Given the description of an element on the screen output the (x, y) to click on. 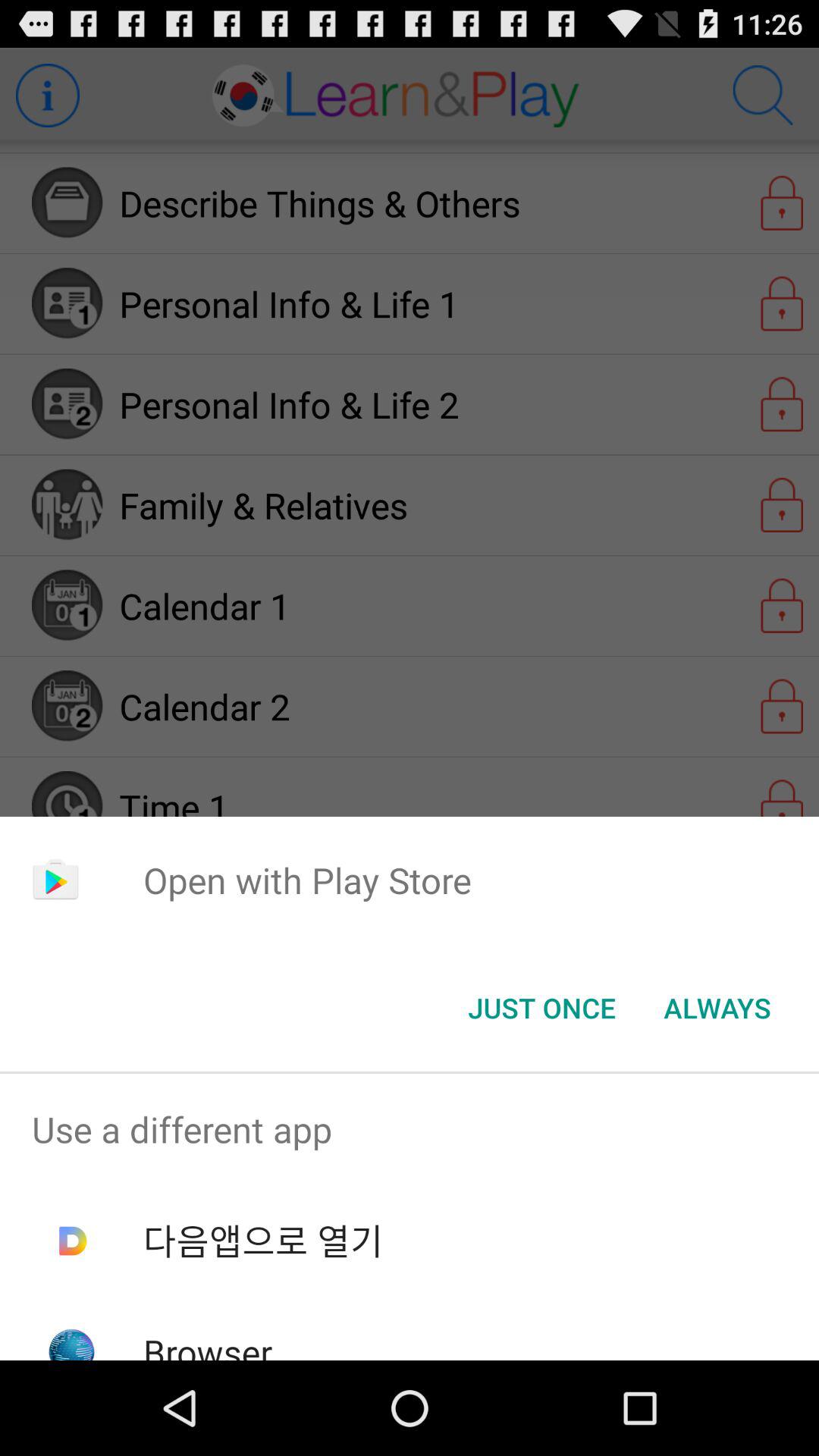
open the item above the browser (263, 1240)
